Given the description of an element on the screen output the (x, y) to click on. 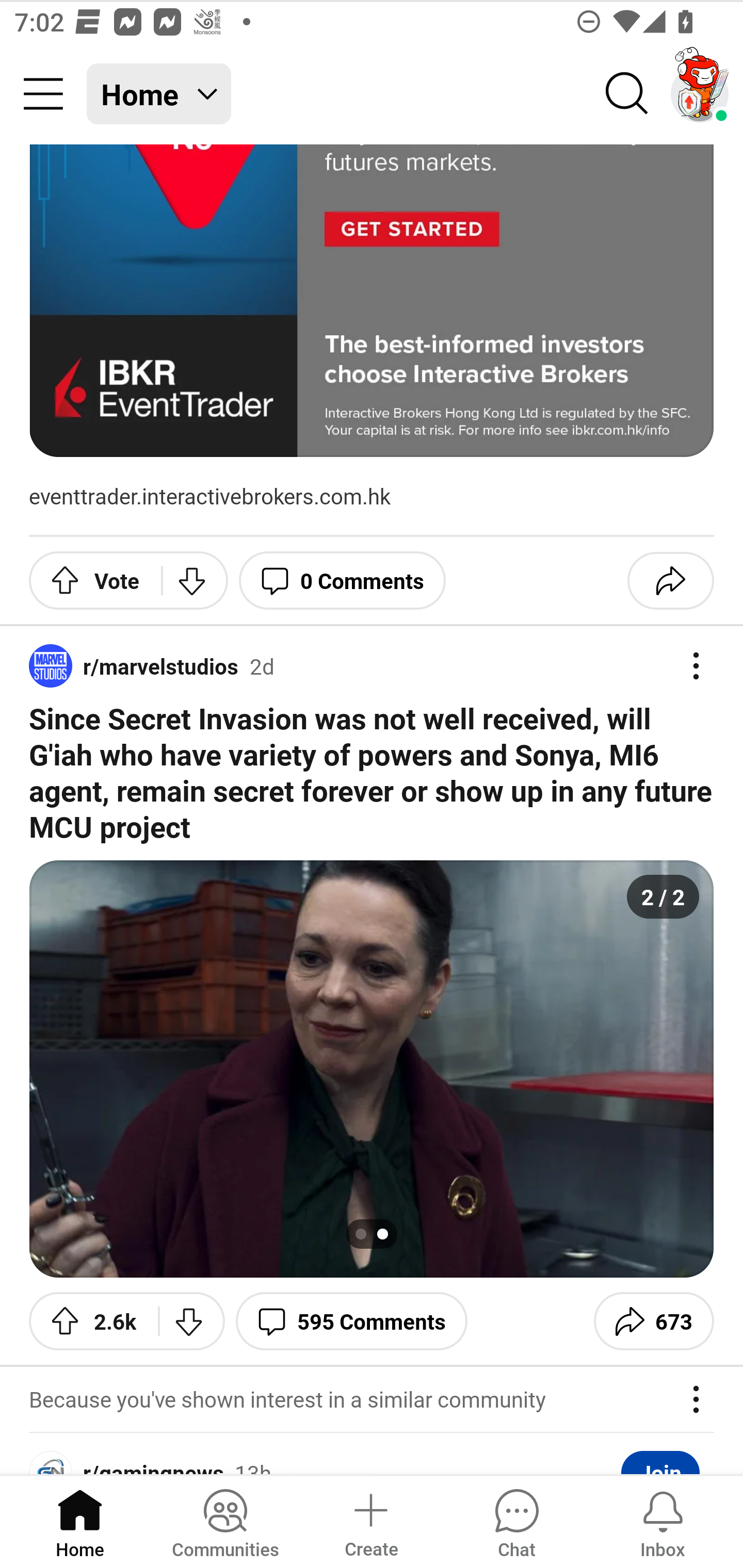
Community menu (43, 93)
Home Home feed (158, 93)
Search (626, 93)
TestAppium002 account (699, 93)
2 of 2, Image, In Image gallery 2 / 2 (371, 1068)
Home (80, 1520)
Communities (225, 1520)
Create a post Create (370, 1520)
Chat (516, 1520)
Inbox (662, 1520)
